Given the description of an element on the screen output the (x, y) to click on. 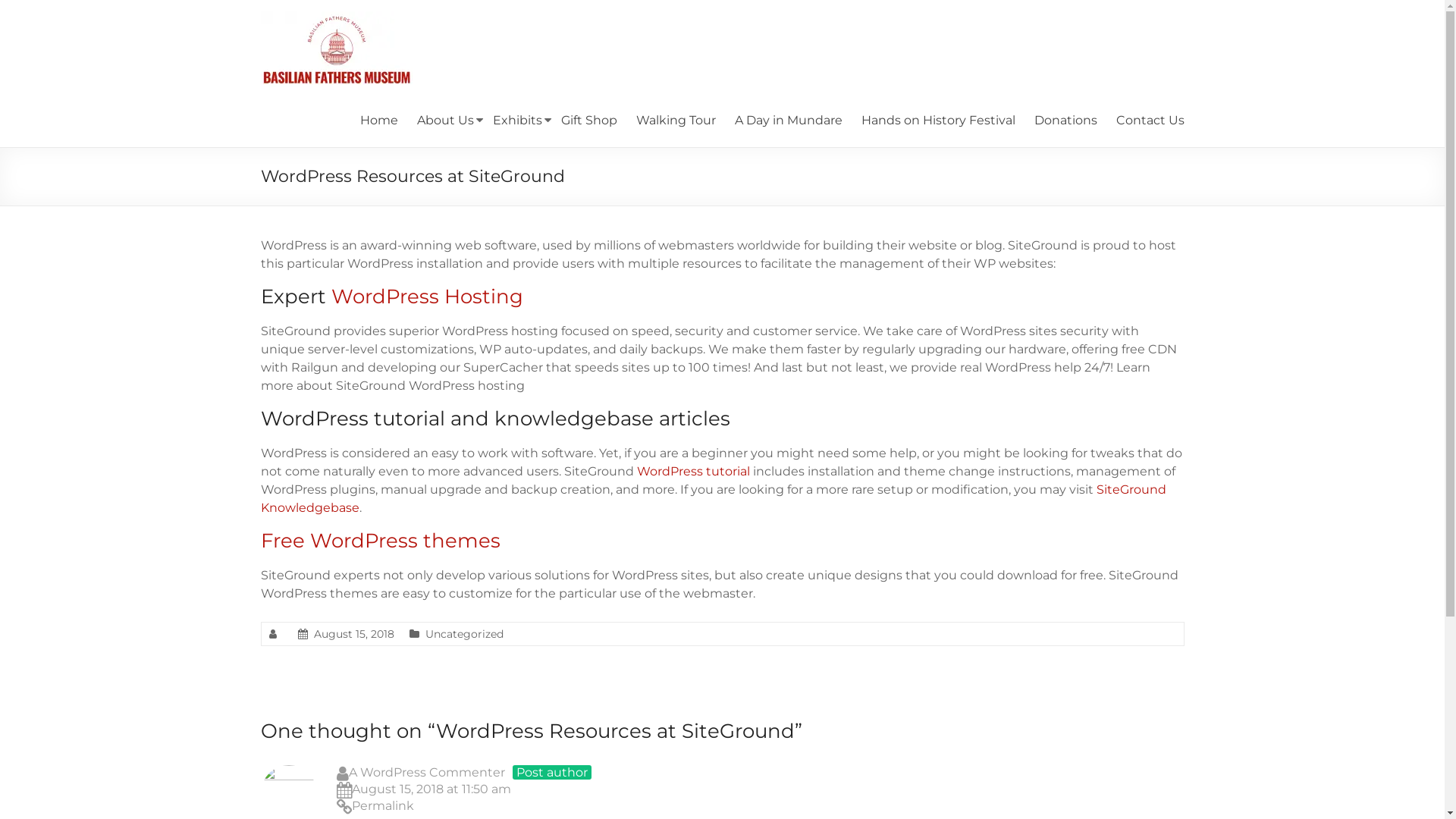
August 15, 2018 Element type: text (353, 633)
Uncategorized Element type: text (463, 633)
SiteGround Knowledgebase Element type: text (713, 498)
About Us Element type: text (445, 120)
Gift Shop Element type: text (589, 120)
Basilian Fathers Museum Element type: text (319, 61)
WordPress Hosting Element type: text (426, 296)
WordPress tutorial Element type: text (693, 471)
Donations Element type: text (1065, 120)
Exhibits Element type: text (517, 120)
A Day in Mundare Element type: text (787, 120)
Hands on History Festival Element type: text (938, 120)
Free WordPress themes Element type: text (380, 540)
Walking Tour Element type: text (675, 120)
Contact Us Element type: text (1150, 120)
A WordPress Commenter Element type: text (426, 772)
Home Element type: text (378, 120)
Permalink Element type: text (760, 806)
